Given the description of an element on the screen output the (x, y) to click on. 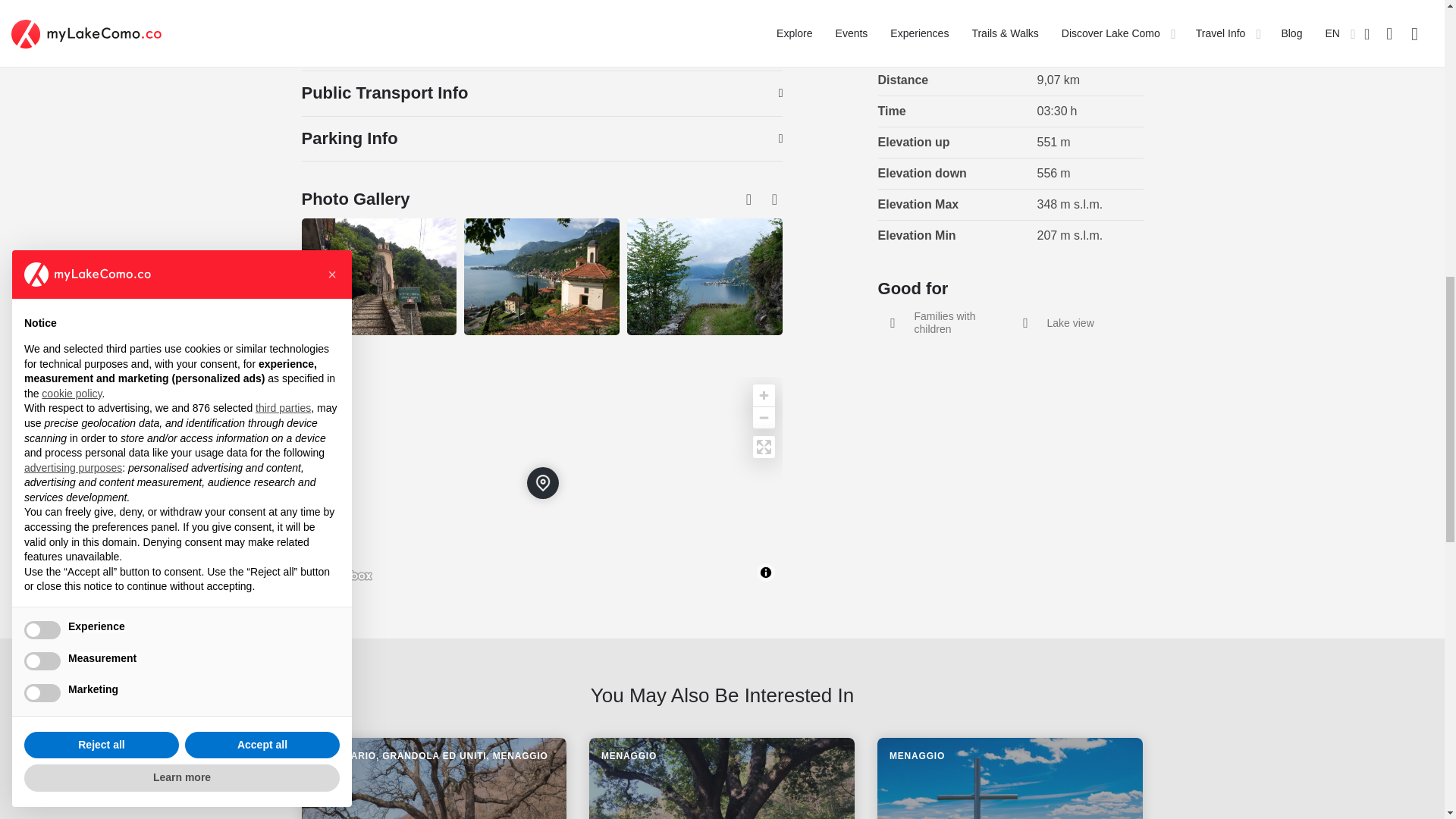
Zoom in (763, 395)
Description (542, 48)
Zoom out (763, 417)
Enter fullscreen (763, 446)
